Given the description of an element on the screen output the (x, y) to click on. 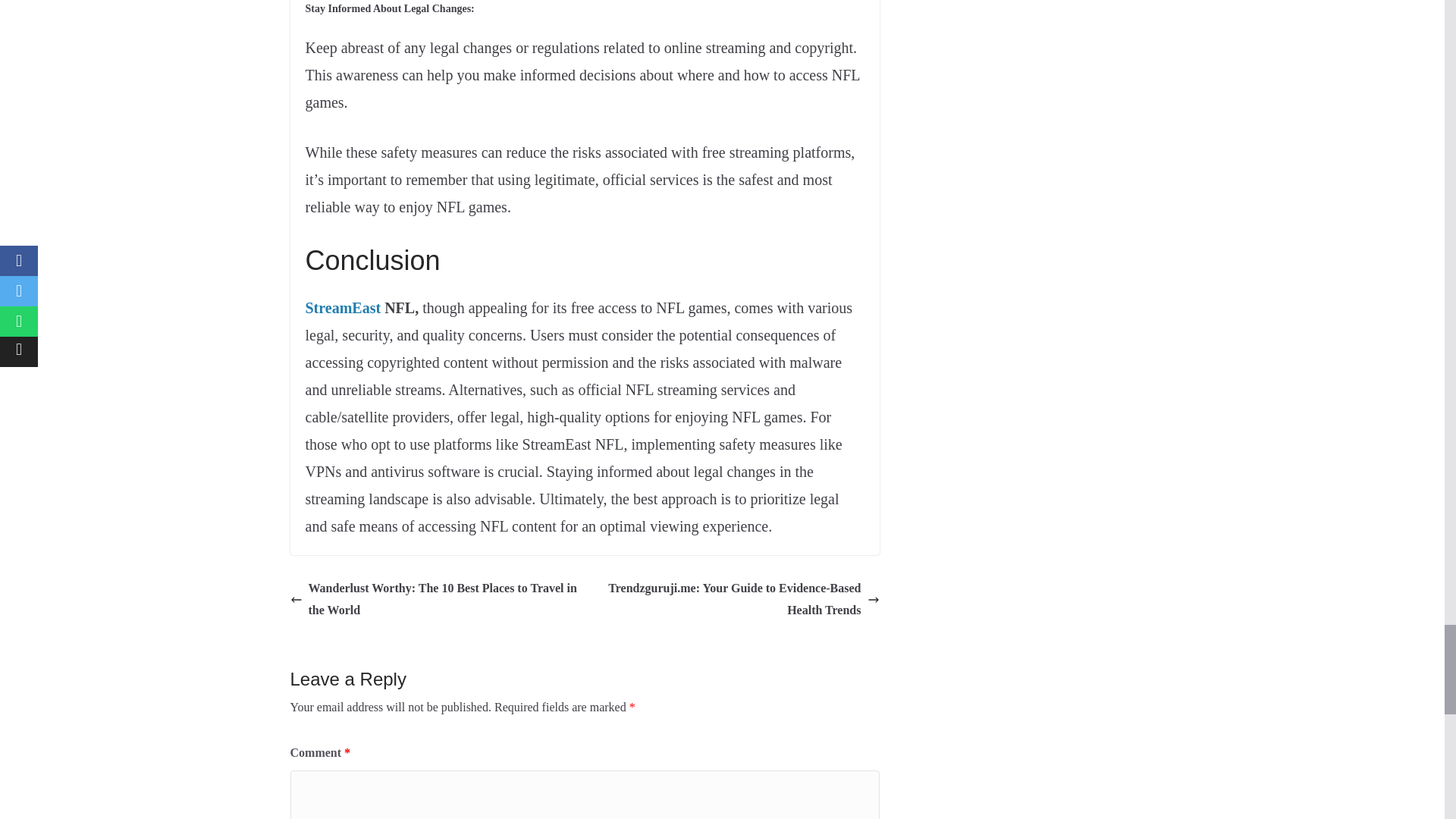
Trendzguruji.me: Your Guide to Evidence-Based Health Trends (735, 599)
StreamEast (342, 307)
Wanderlust Worthy: The 10 Best Places to Travel in the World (432, 599)
